Given the description of an element on the screen output the (x, y) to click on. 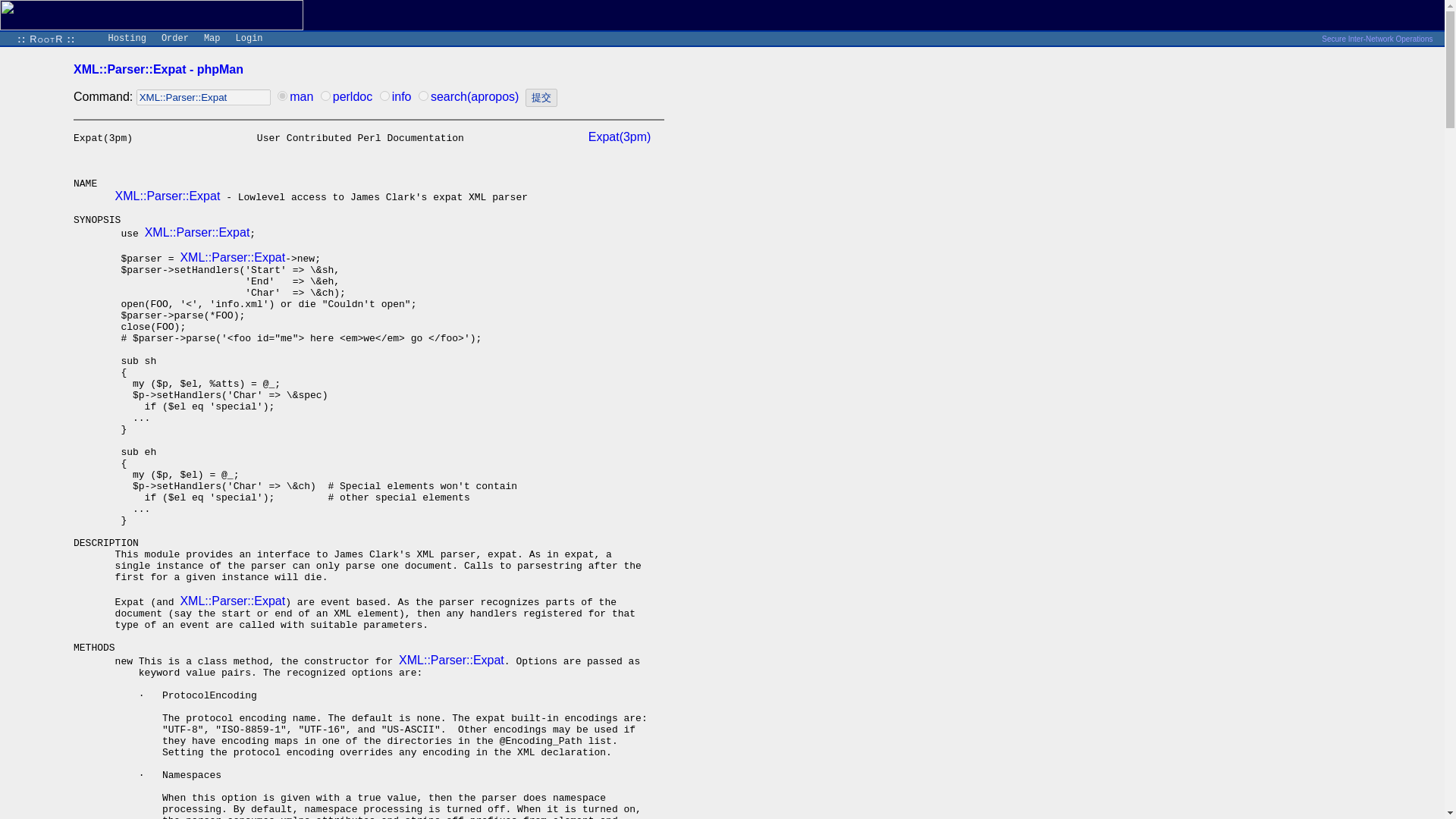
XML::Parser::Expat (232, 600)
Order (175, 38)
:: RootR :: (46, 39)
perldoc (352, 96)
XML::Parser::Expat (232, 256)
Map (212, 38)
man (282, 95)
search (423, 95)
Login (249, 38)
info (401, 96)
